Given the description of an element on the screen output the (x, y) to click on. 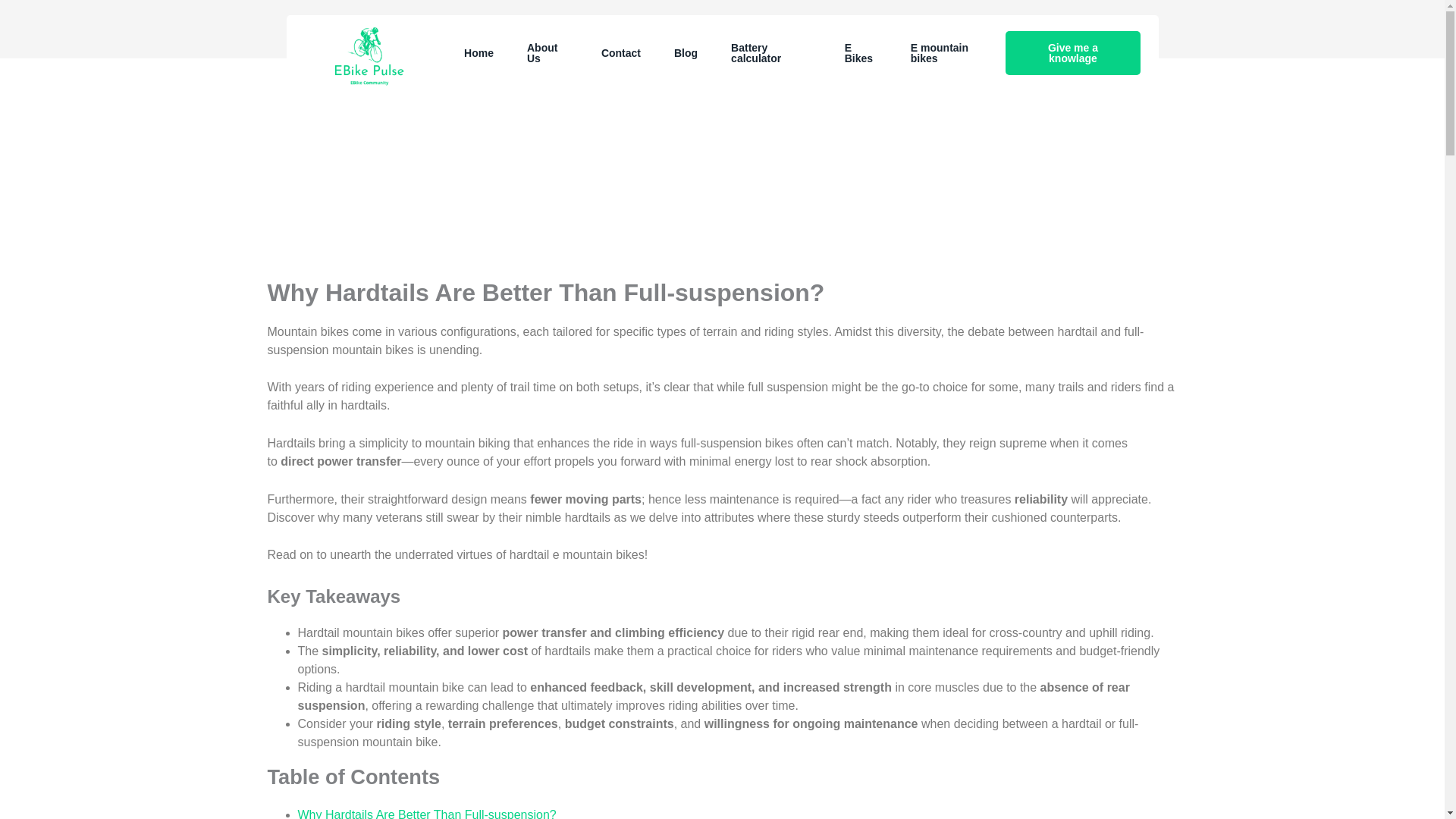
Battery calculator (771, 52)
Contact (621, 52)
About Us (548, 52)
E Bikes (860, 52)
Blog (686, 52)
Home (478, 52)
E mountain bikes (949, 52)
Give me a knowlage (1073, 53)
Why Hardtails Are Better Than Full-suspension? (426, 813)
